Given the description of an element on the screen output the (x, y) to click on. 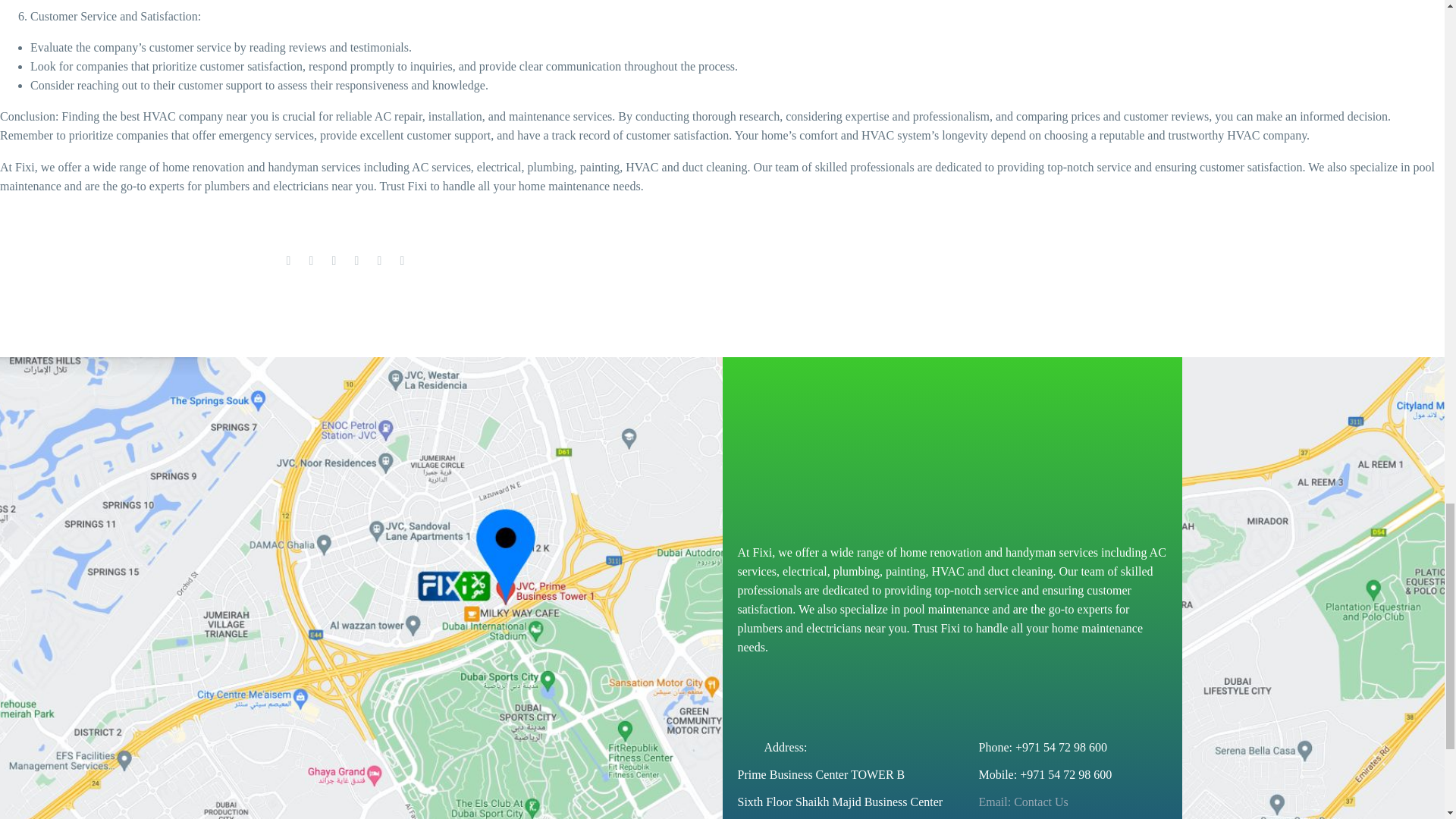
Tumblr (356, 260)
Reddit (401, 260)
Facebook (288, 260)
Pinterest (333, 260)
LinkedIn (378, 260)
Twitter (310, 260)
